Given the description of an element on the screen output the (x, y) to click on. 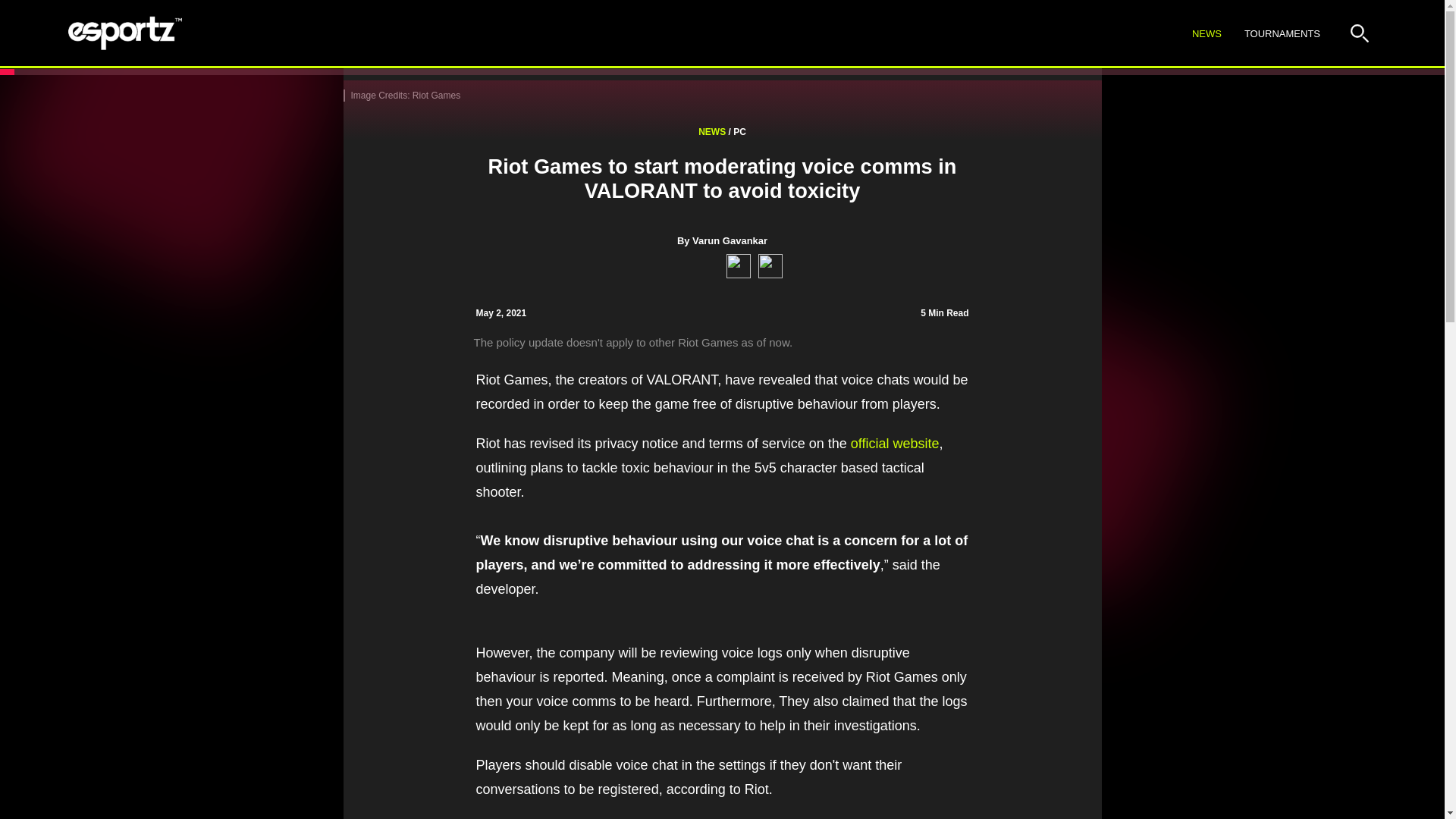
ESPORTZ (125, 33)
By Varun Gavankar (1267, 33)
TOURNAMENTS (722, 240)
PC (1282, 34)
NEWS (739, 131)
Search (711, 131)
